Given the description of an element on the screen output the (x, y) to click on. 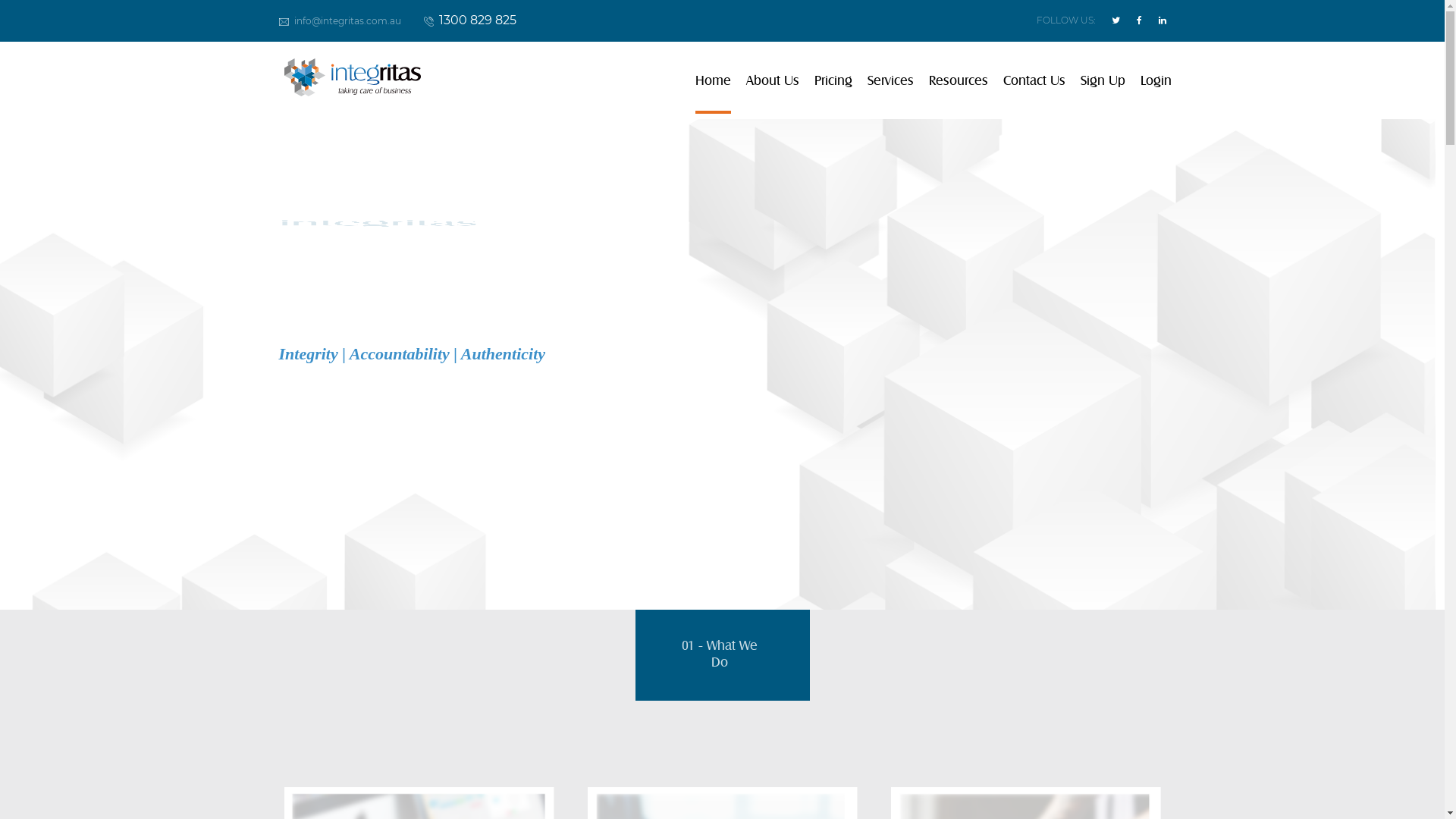
1300 829 825 Element type: text (469, 19)
info@integritas.com.au Element type: text (340, 19)
Pricing Element type: text (833, 79)
Home Element type: text (712, 79)
About Us Element type: text (772, 79)
Sign Up Element type: text (1101, 79)
Resources Element type: text (957, 79)
Login Element type: text (1155, 79)
Contact Us Element type: text (1033, 79)
Services Element type: text (890, 79)
